Given the description of an element on the screen output the (x, y) to click on. 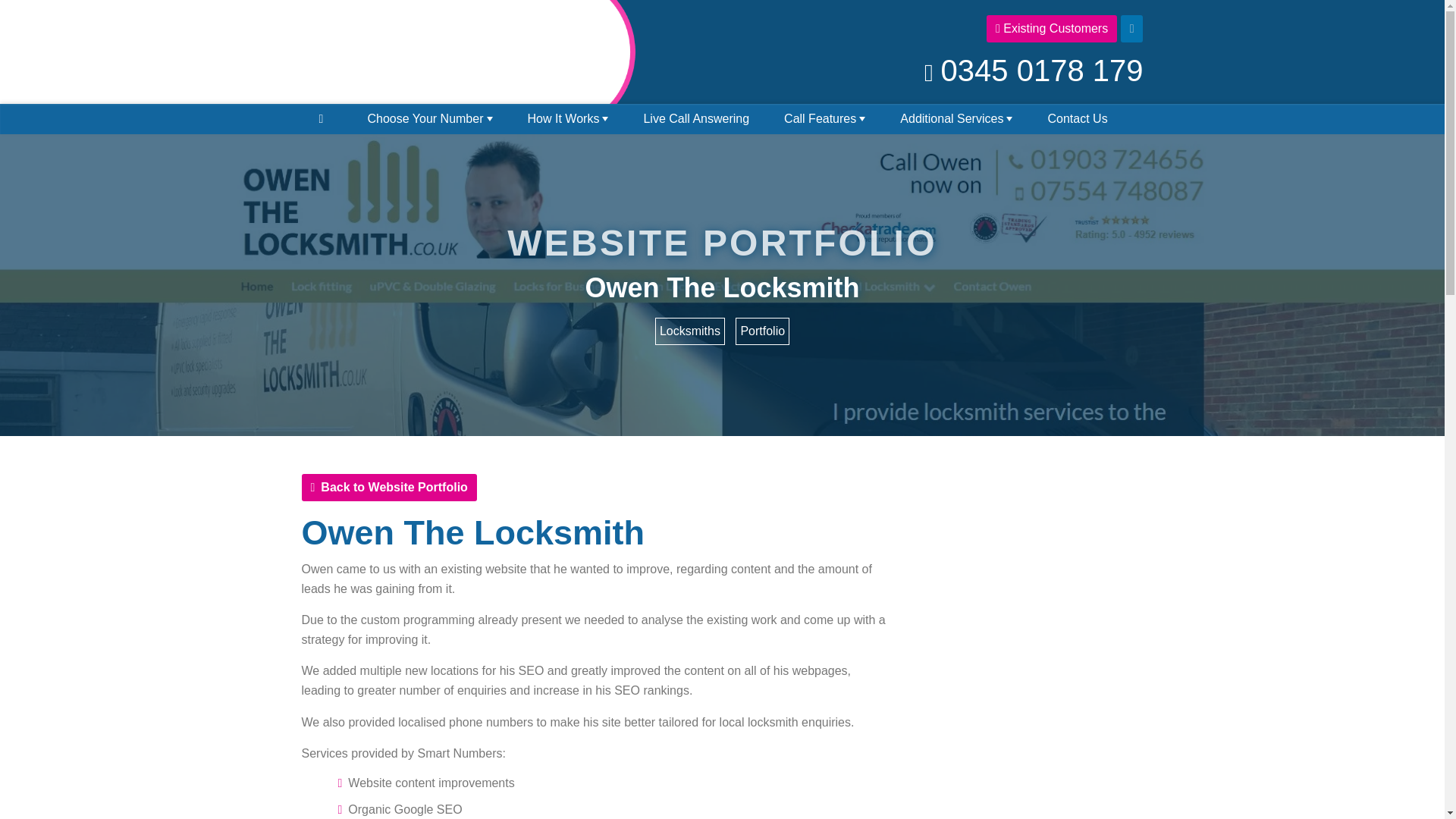
Live Call Answering (696, 119)
 0345 0178 179 (1032, 70)
Choose Your Number (429, 119)
How It Works (567, 119)
Live Call Answering (696, 119)
How it Works (567, 119)
Call Features (823, 119)
Existing Customers (1051, 28)
Choose your Number (429, 119)
Call Features (823, 119)
